Given the description of an element on the screen output the (x, y) to click on. 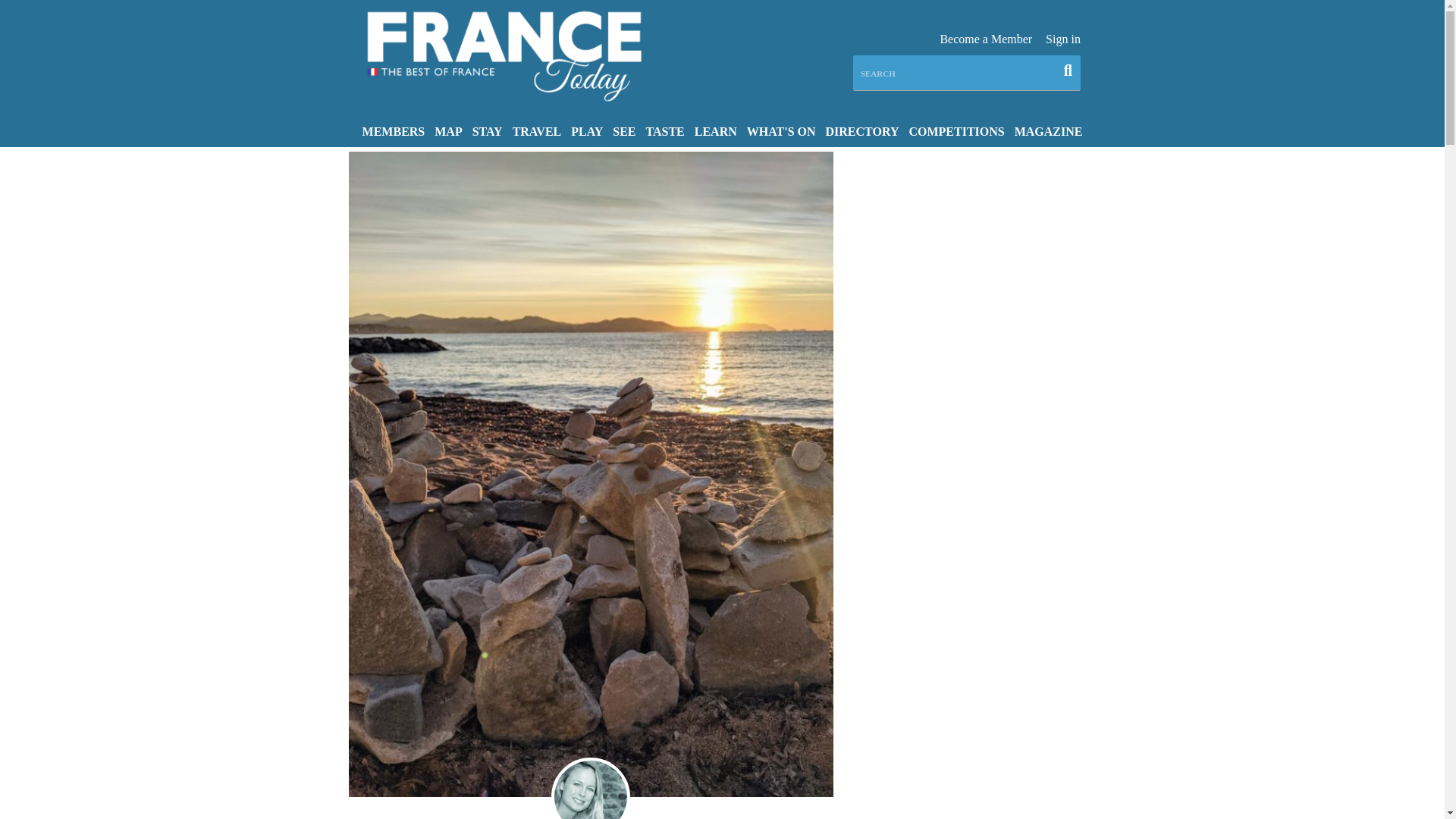
Become a Member (985, 38)
Sign in (1062, 38)
MEMBERS (393, 130)
STAY (486, 130)
MAP (447, 130)
TRAVEL (537, 130)
